Given the description of an element on the screen output the (x, y) to click on. 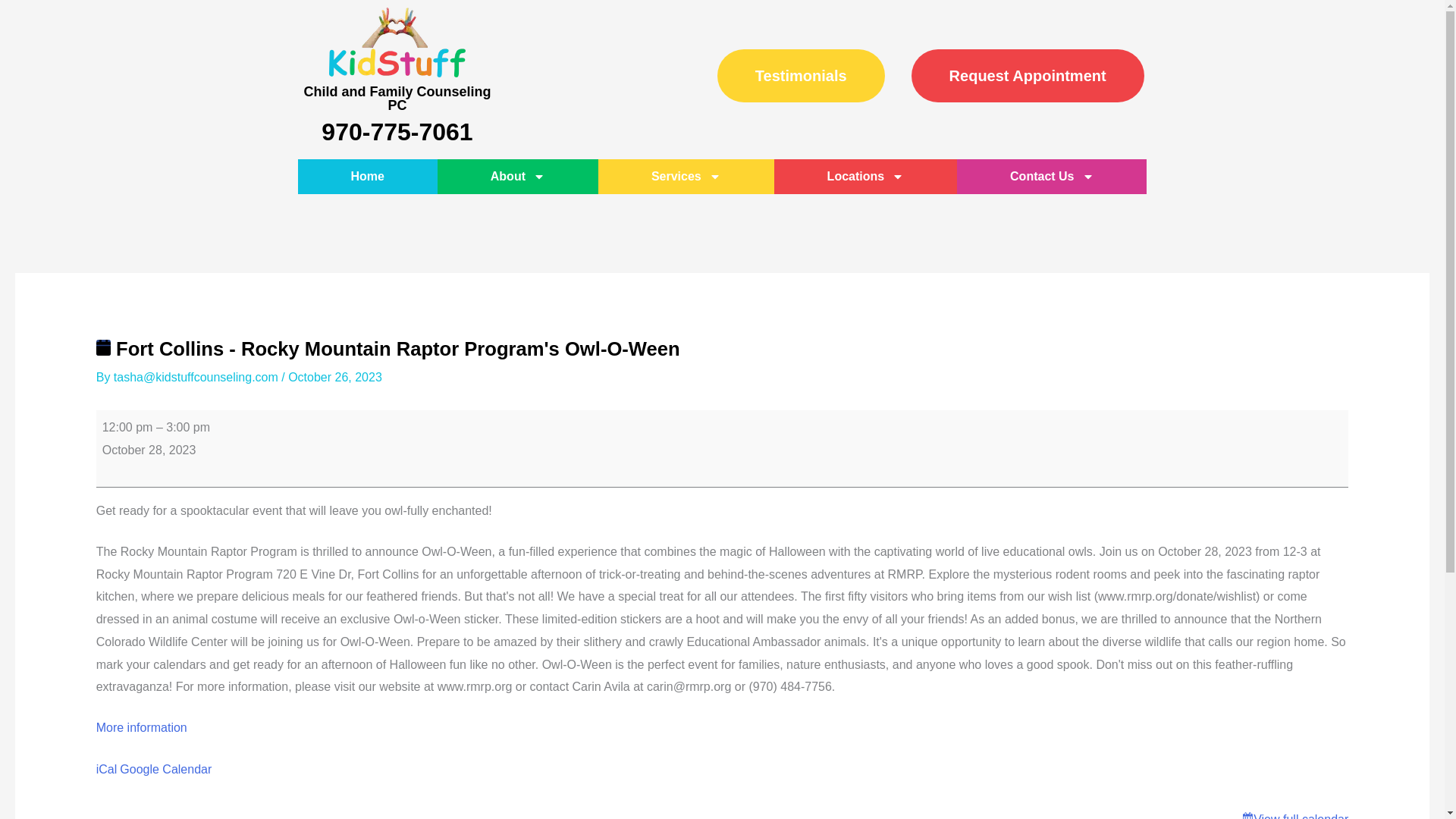
Child and Family Counseling PC (396, 98)
Locations (865, 176)
Services (686, 176)
Contact Us (1051, 176)
970-775-7061 (396, 131)
About (518, 176)
Request Appointment (1027, 75)
Testimonials (801, 75)
Home (366, 176)
